Given the description of an element on the screen output the (x, y) to click on. 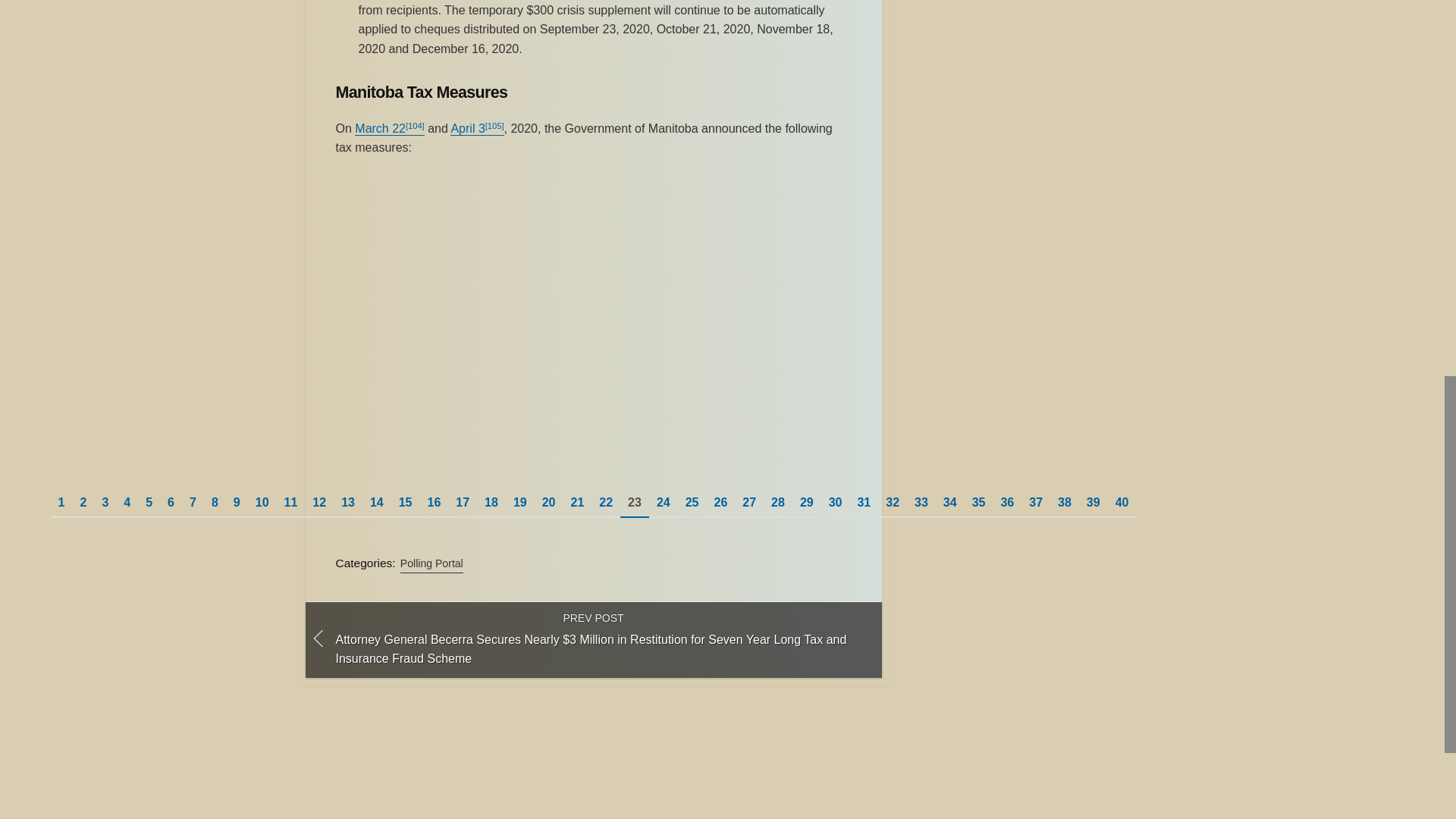
10 (261, 501)
March 22 (380, 128)
April 3 (466, 128)
11 (290, 501)
